Given the description of an element on the screen output the (x, y) to click on. 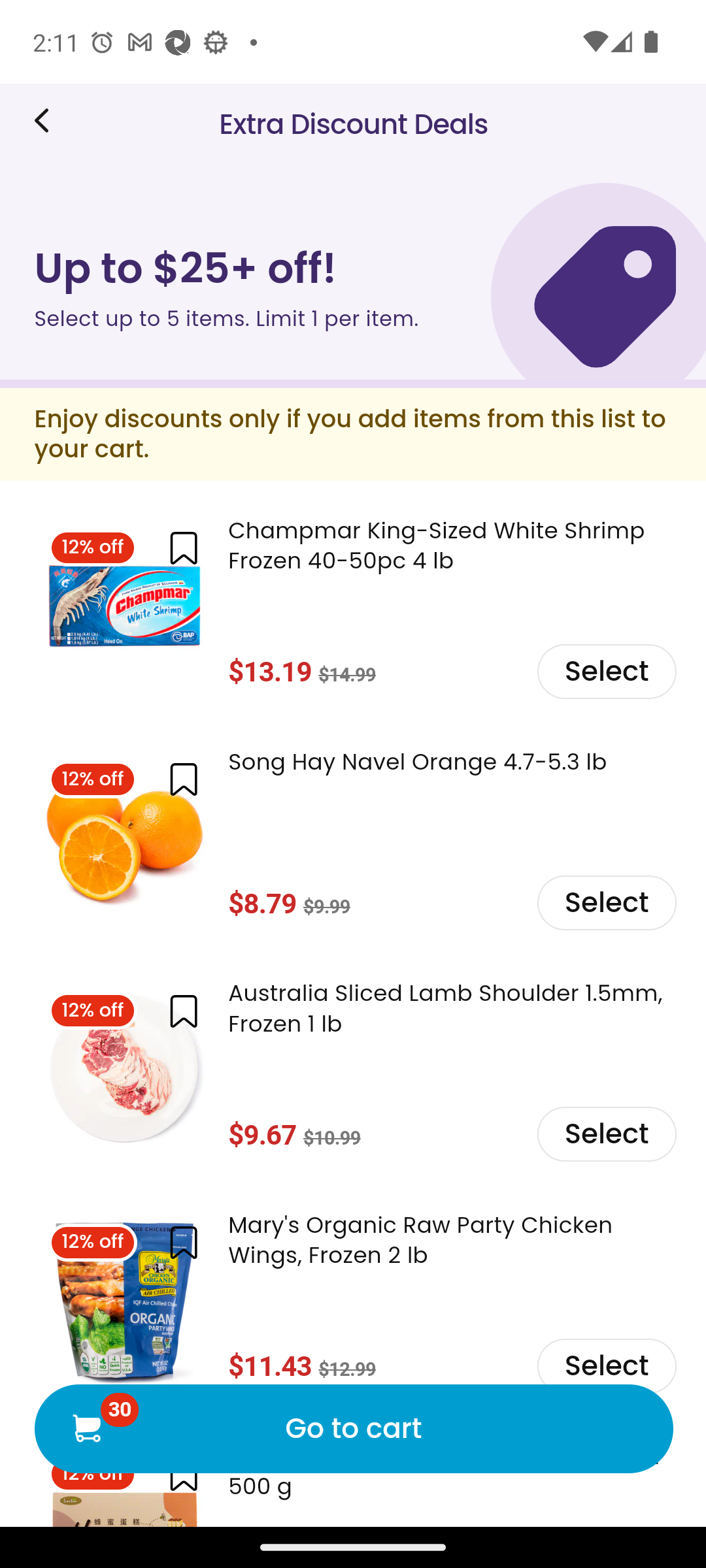
Weee! - Groceries Delivered (47, 119)
 (182, 548)
Select (606, 670)
 (182, 778)
Select (606, 901)
 (182, 1010)
Select (606, 1133)
 (182, 1242)
Select (606, 1364)
30  (86, 1427)
